Given the description of an element on the screen output the (x, y) to click on. 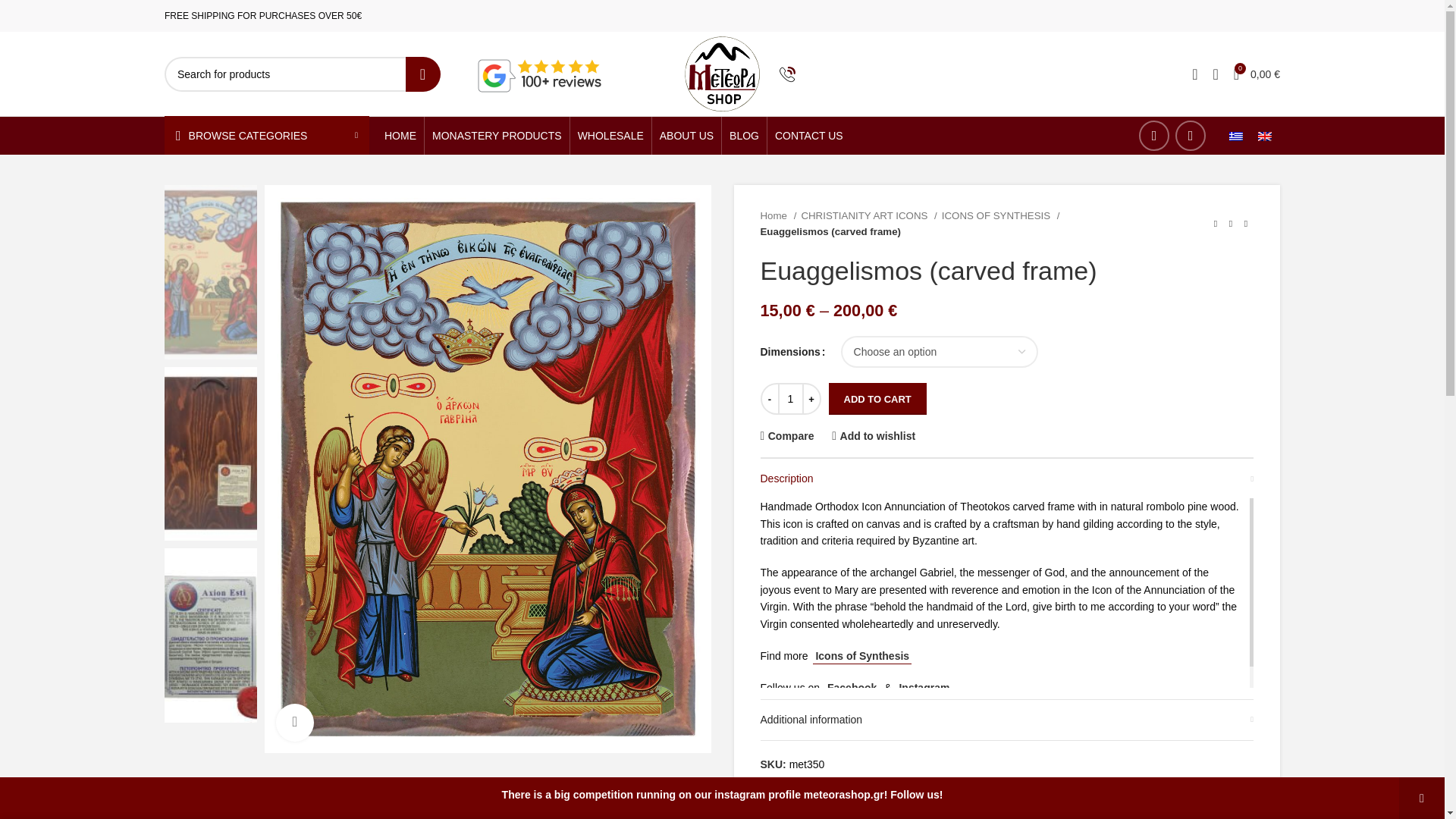
Search for products (302, 73)
SEARCH (421, 73)
Log in (1072, 315)
Shopping cart (1256, 73)
